Given the description of an element on the screen output the (x, y) to click on. 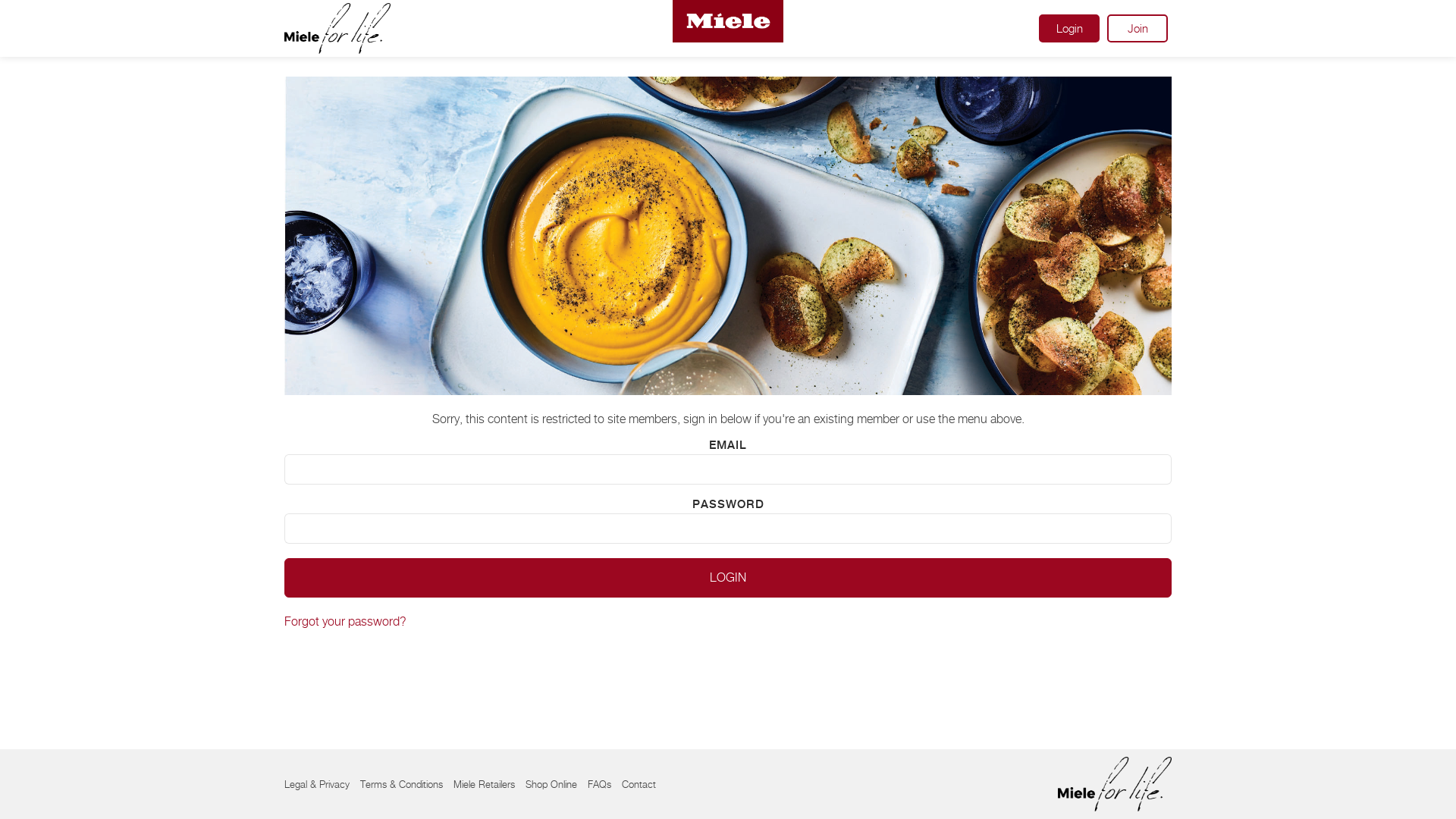
FAQs Element type: text (599, 784)
Shop Online Element type: text (551, 784)
Contact Element type: text (638, 784)
Forgot your password? Element type: text (345, 621)
Miele Retailers Element type: text (483, 784)
Login Element type: text (1068, 28)
Login Element type: text (727, 577)
Legal & Privacy Element type: text (316, 784)
Join Element type: text (1137, 28)
Terms & Conditions Element type: text (401, 784)
